Given the description of an element on the screen output the (x, y) to click on. 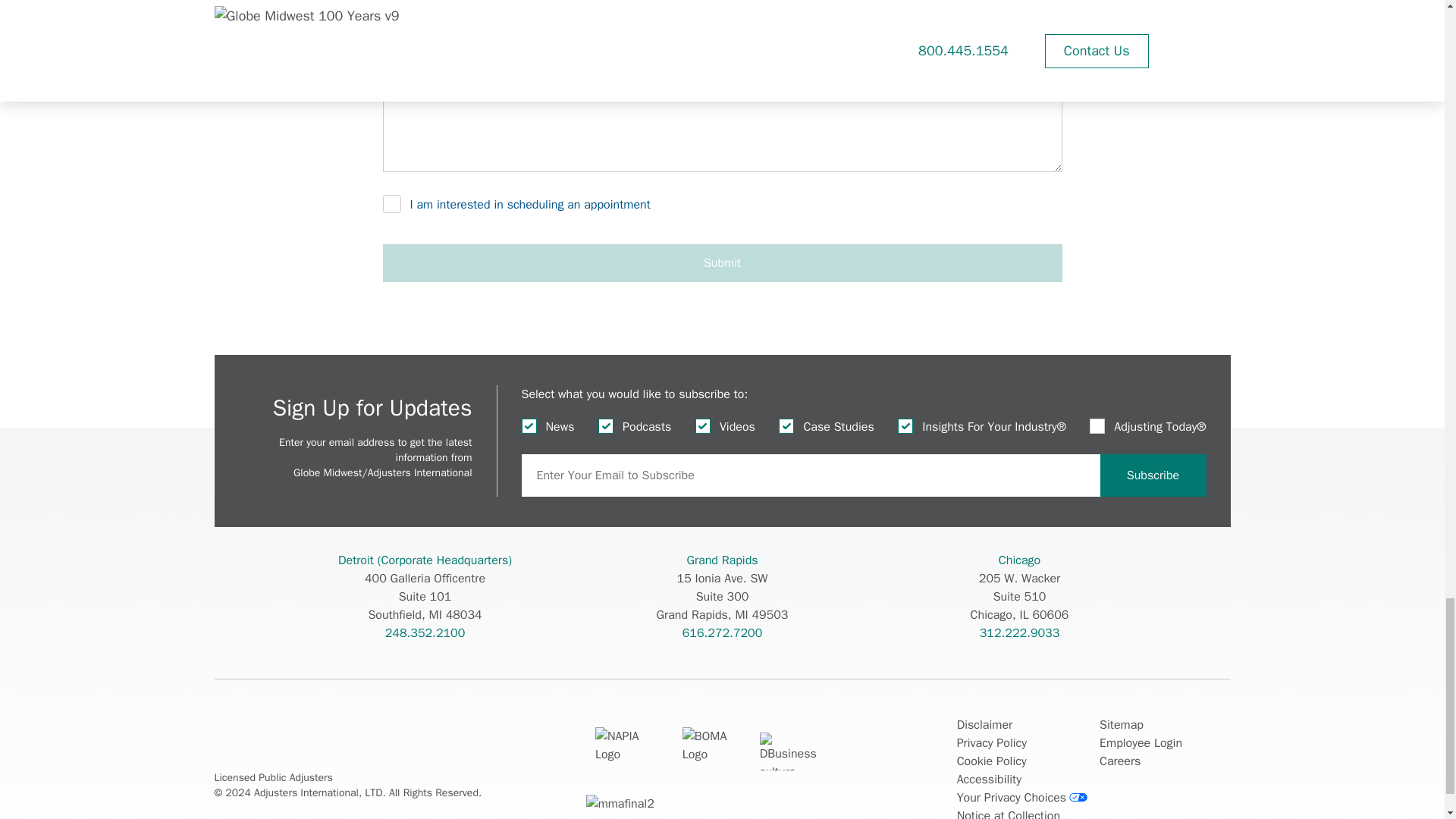
Accessibility (989, 779)
Disclaimer (983, 724)
616.272.7200 (722, 632)
Submit (721, 262)
Subscribe (1152, 475)
Accessibility (989, 779)
Careers (1119, 761)
Notice at Collection (1007, 812)
Careers (1119, 761)
Twitter (258, 749)
